Given the description of an element on the screen output the (x, y) to click on. 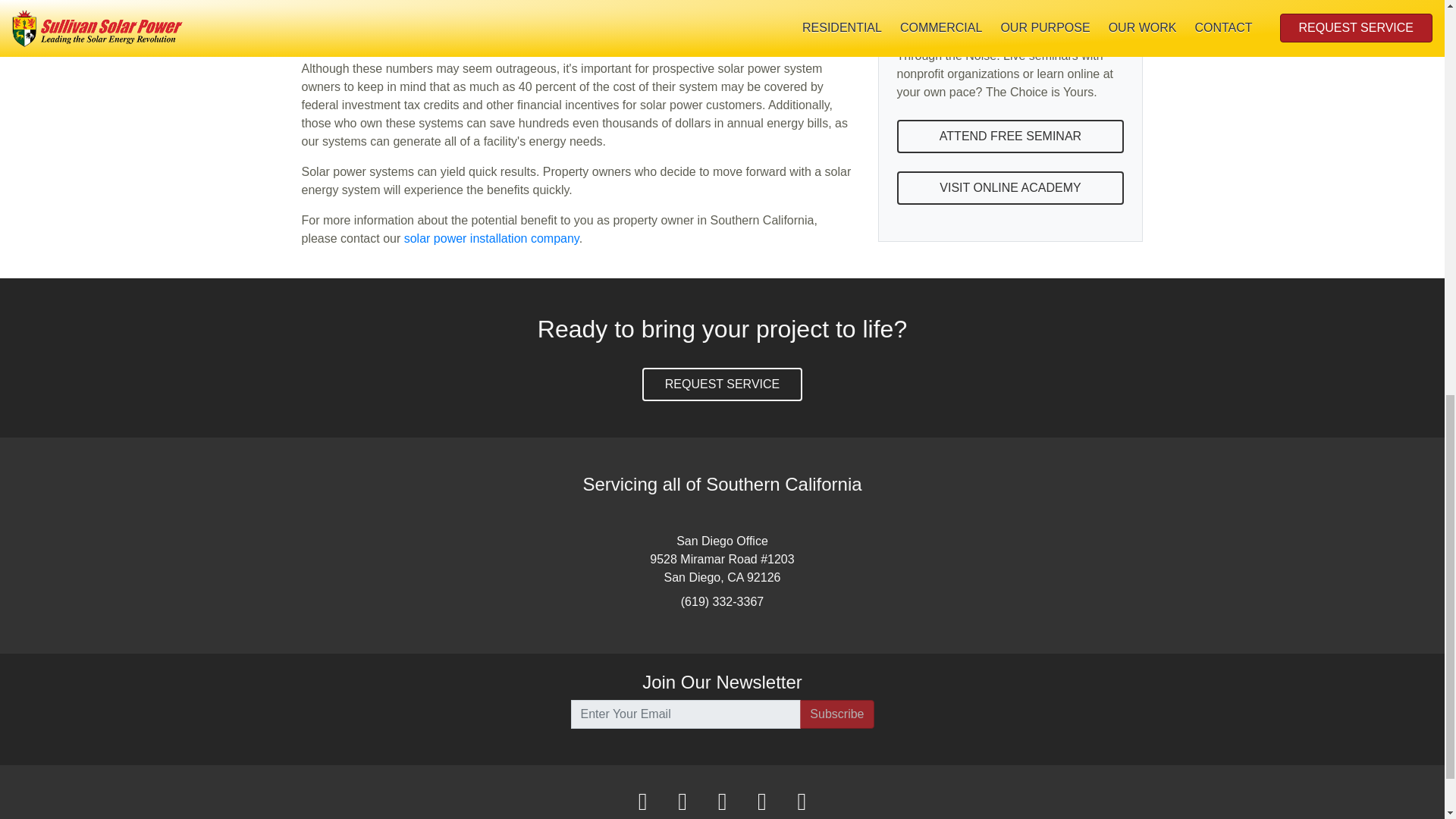
Subscribe (836, 714)
REQUEST SERVICE (722, 384)
solar power installation company (491, 237)
solar power installation company (491, 237)
